Given the description of an element on the screen output the (x, y) to click on. 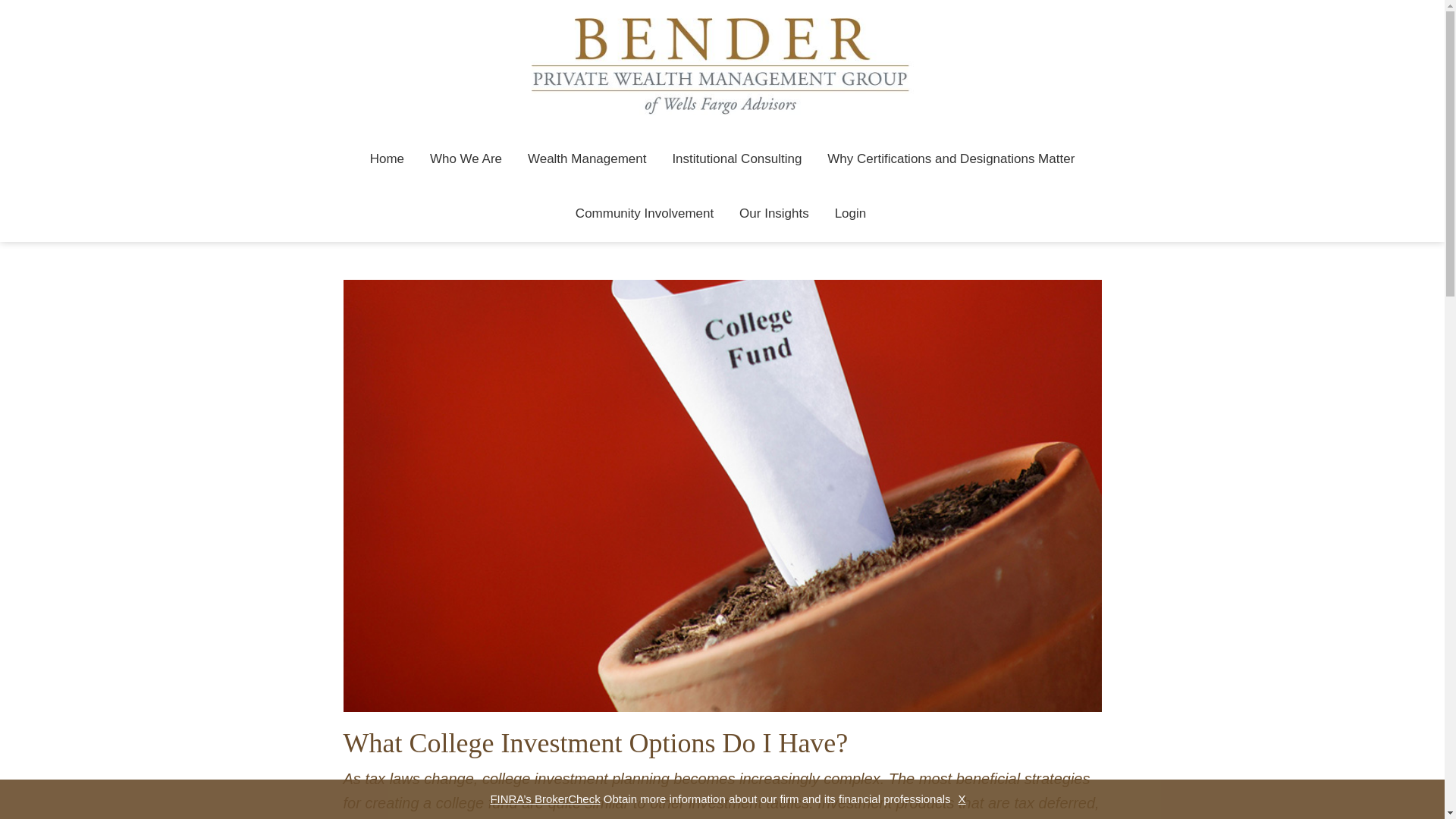
Community Involvement (644, 214)
Wealth Management (587, 159)
Home (386, 159)
Our Insights (774, 214)
Why Certifications and Designations Matter (950, 159)
Login (850, 214)
Institutional Consulting (736, 159)
Who We Are (466, 159)
